Given the description of an element on the screen output the (x, y) to click on. 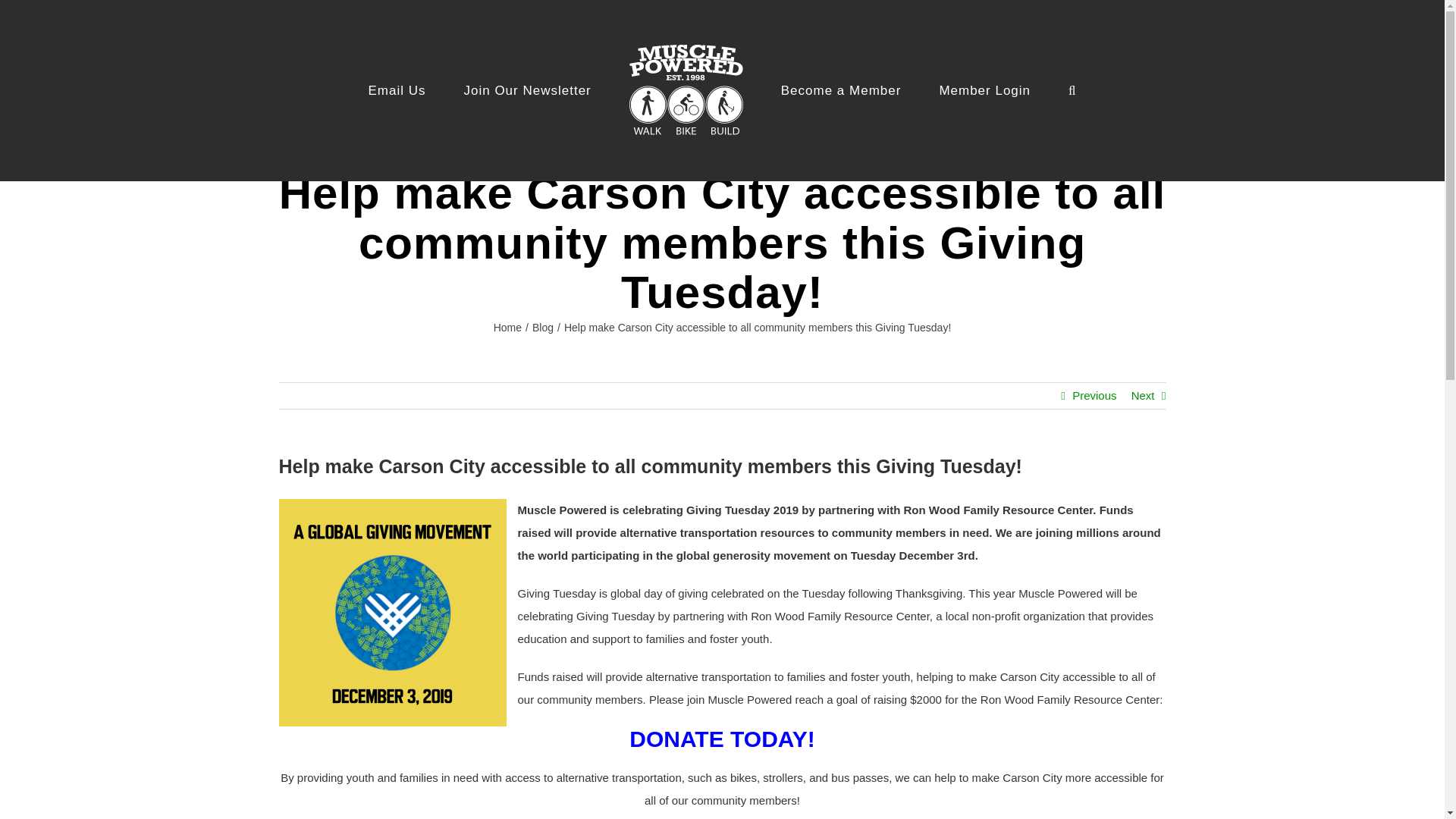
Become a Member (840, 90)
Blog (542, 327)
Member Login (984, 90)
Next (1142, 395)
Home (507, 327)
Previous (1093, 395)
Join Our Newsletter (527, 90)
DONATE TODAY! (720, 738)
